Given the description of an element on the screen output the (x, y) to click on. 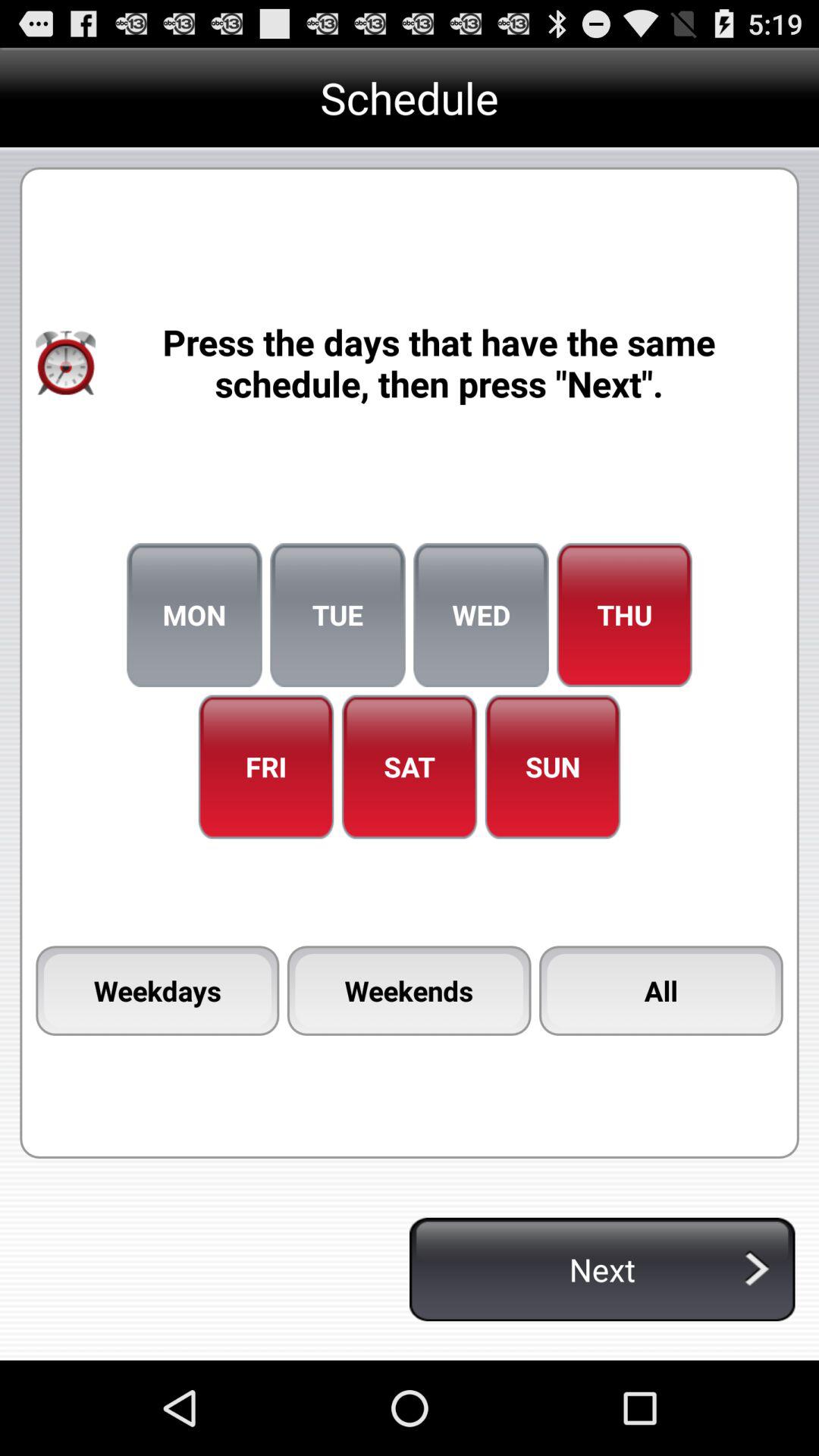
launch the item to the left of the weekends icon (157, 990)
